Given the description of an element on the screen output the (x, y) to click on. 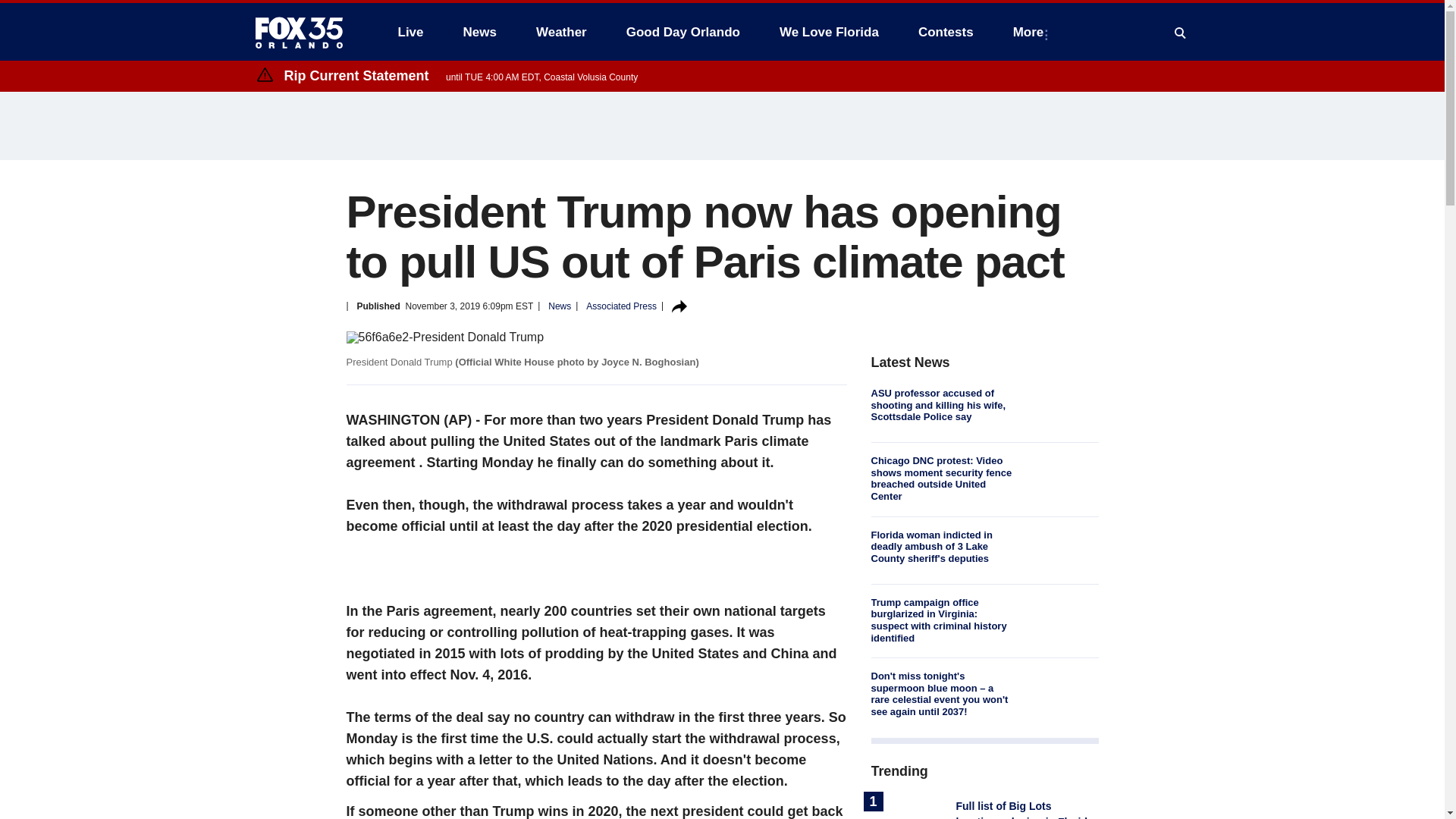
Live (410, 32)
We Love Florida (829, 32)
Good Day Orlando (683, 32)
Weather (561, 32)
Contests (945, 32)
More (1031, 32)
News (479, 32)
